Given the description of an element on the screen output the (x, y) to click on. 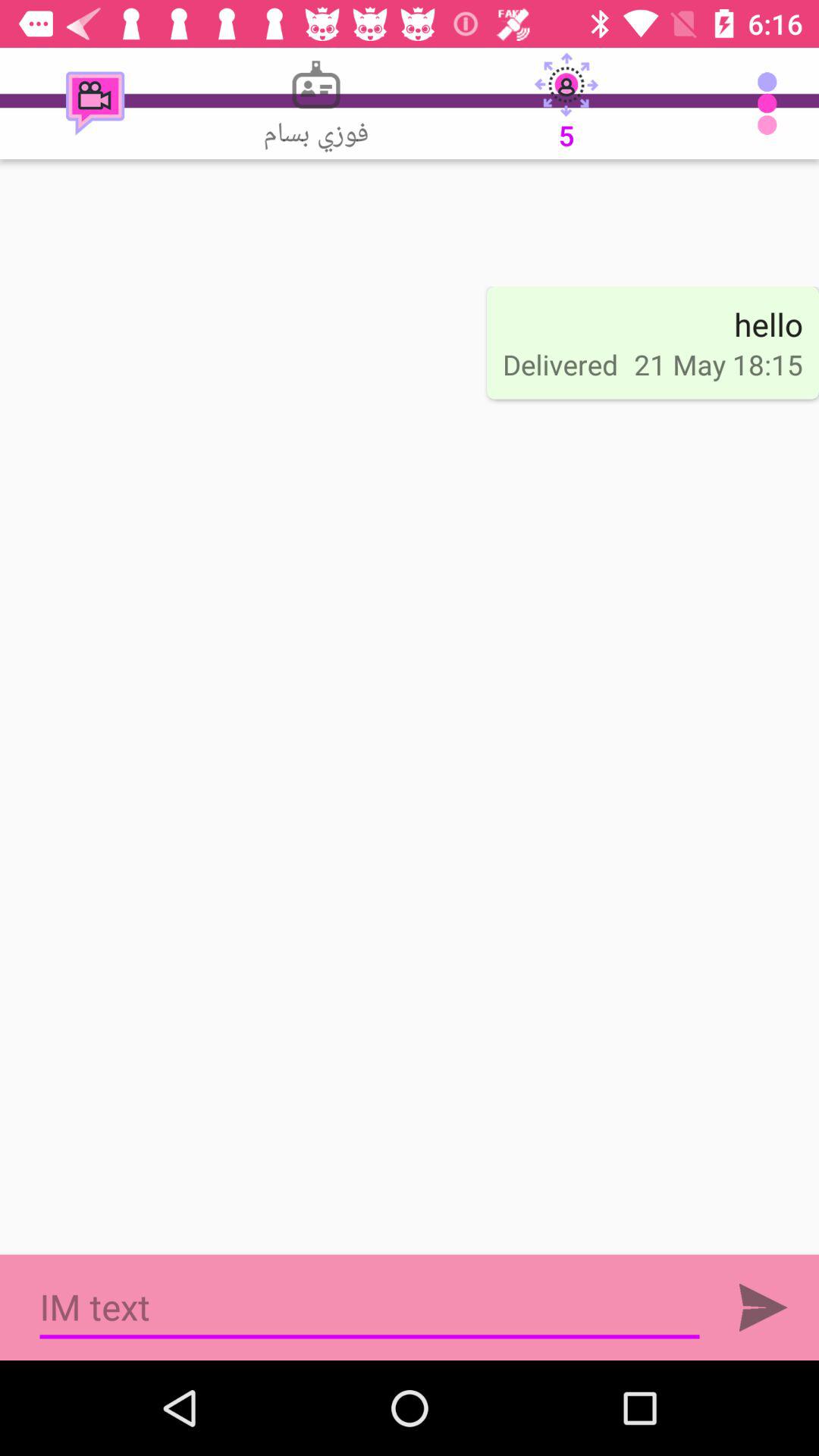
text area to write im (369, 1307)
